Given the description of an element on the screen output the (x, y) to click on. 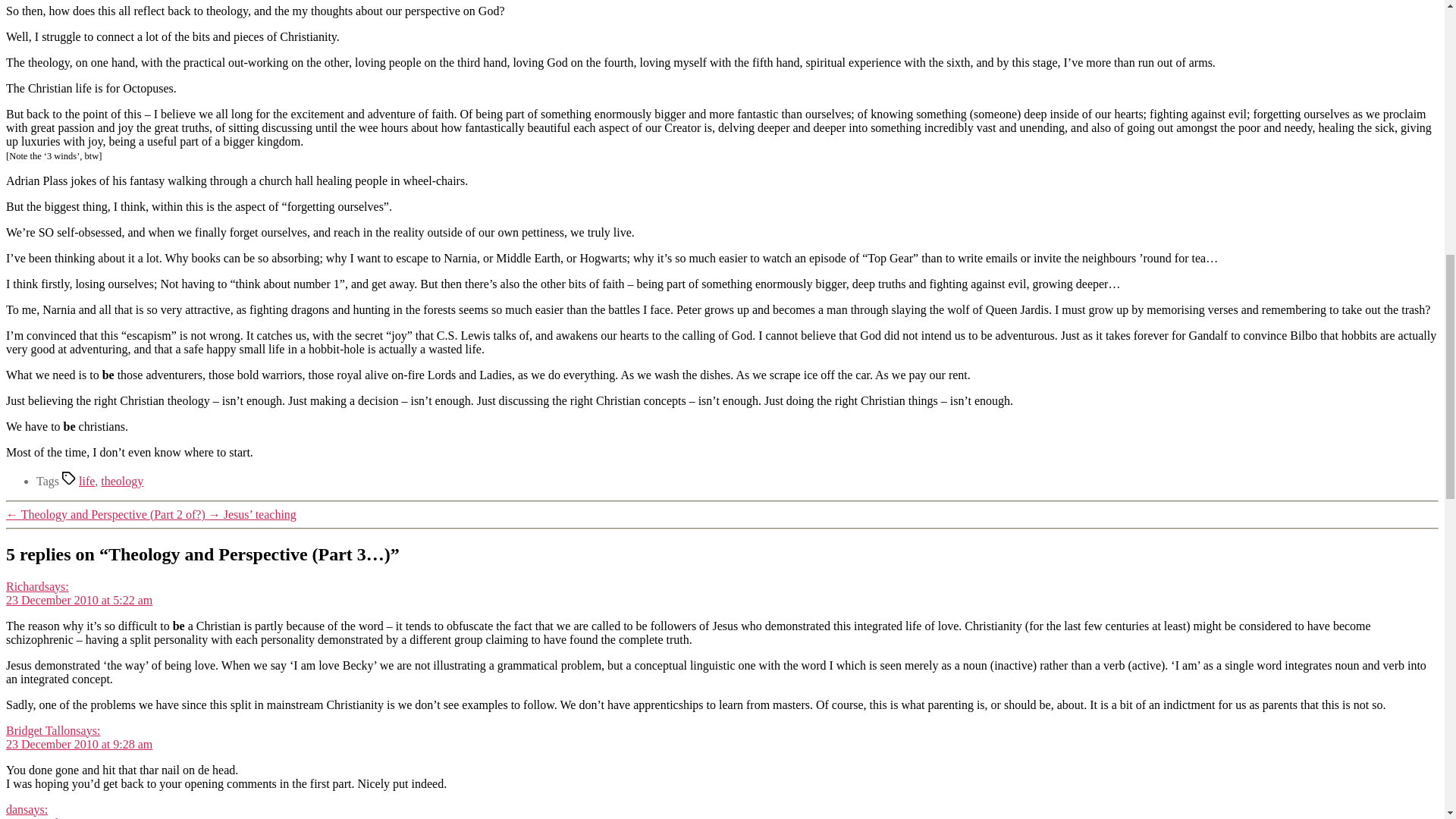
23 December 2010 at 9:46 am (78, 817)
dansays: (26, 809)
23 December 2010 at 9:28 am (78, 744)
theology (121, 481)
Richardsays: (36, 585)
life (86, 481)
23 December 2010 at 9:28 am (78, 744)
23 December 2010 at 9:46 am (78, 817)
23 December 2010 at 5:22 am (78, 599)
Bridget Tallonsays: (52, 730)
23 December 2010 at 5:22 am (78, 599)
